Given the description of an element on the screen output the (x, y) to click on. 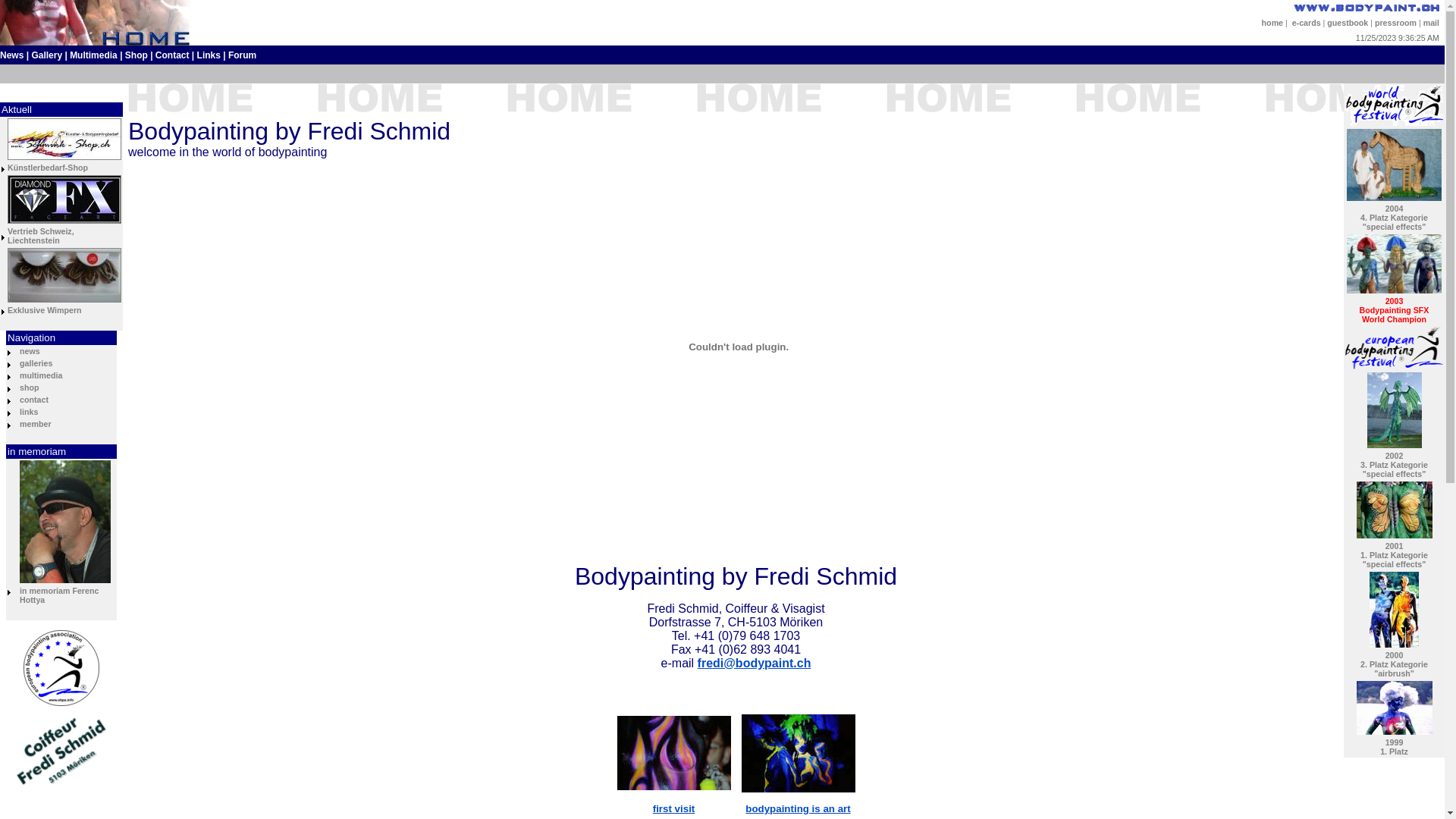
news Element type: text (29, 350)
bodypainting is an art Element type: text (797, 808)
galleries Element type: text (35, 362)
Gallery Element type: text (46, 55)
Multimedia Element type: text (93, 55)
Vertrieb Schweiz, Liechtenstein Element type: text (40, 235)
Shop Element type: text (136, 55)
Links Element type: text (208, 55)
News Element type: text (11, 55)
2002
3. Platz Kategorie "special effects" Element type: text (1393, 464)
2004
4. Platz Kategorie "special effects" Element type: text (1393, 217)
member Element type: text (34, 423)
2003
Bodypainting SFX
World Champion Element type: text (1394, 309)
multimedia Element type: text (40, 374)
in memoriam Ferenc Hottya Element type: text (58, 595)
guestbook Element type: text (1347, 22)
Forum Element type: text (242, 55)
fredi@bodypaint.ch Element type: text (754, 662)
contact Element type: text (33, 399)
mail Element type: text (1431, 22)
links Element type: text (28, 411)
first visit Element type: text (673, 808)
2001
1. Platz Kategorie "special effects" Element type: text (1393, 554)
e-cards Element type: text (1306, 22)
Exklusive Wimpern Element type: text (44, 309)
shop Element type: text (28, 387)
Contact Element type: text (172, 55)
home Element type: text (1272, 22)
pressroom Element type: text (1395, 22)
1999
1. Platz Element type: text (1394, 746)
2000
2. Platz Kategorie "airbrush" Element type: text (1393, 663)
